Given the description of an element on the screen output the (x, y) to click on. 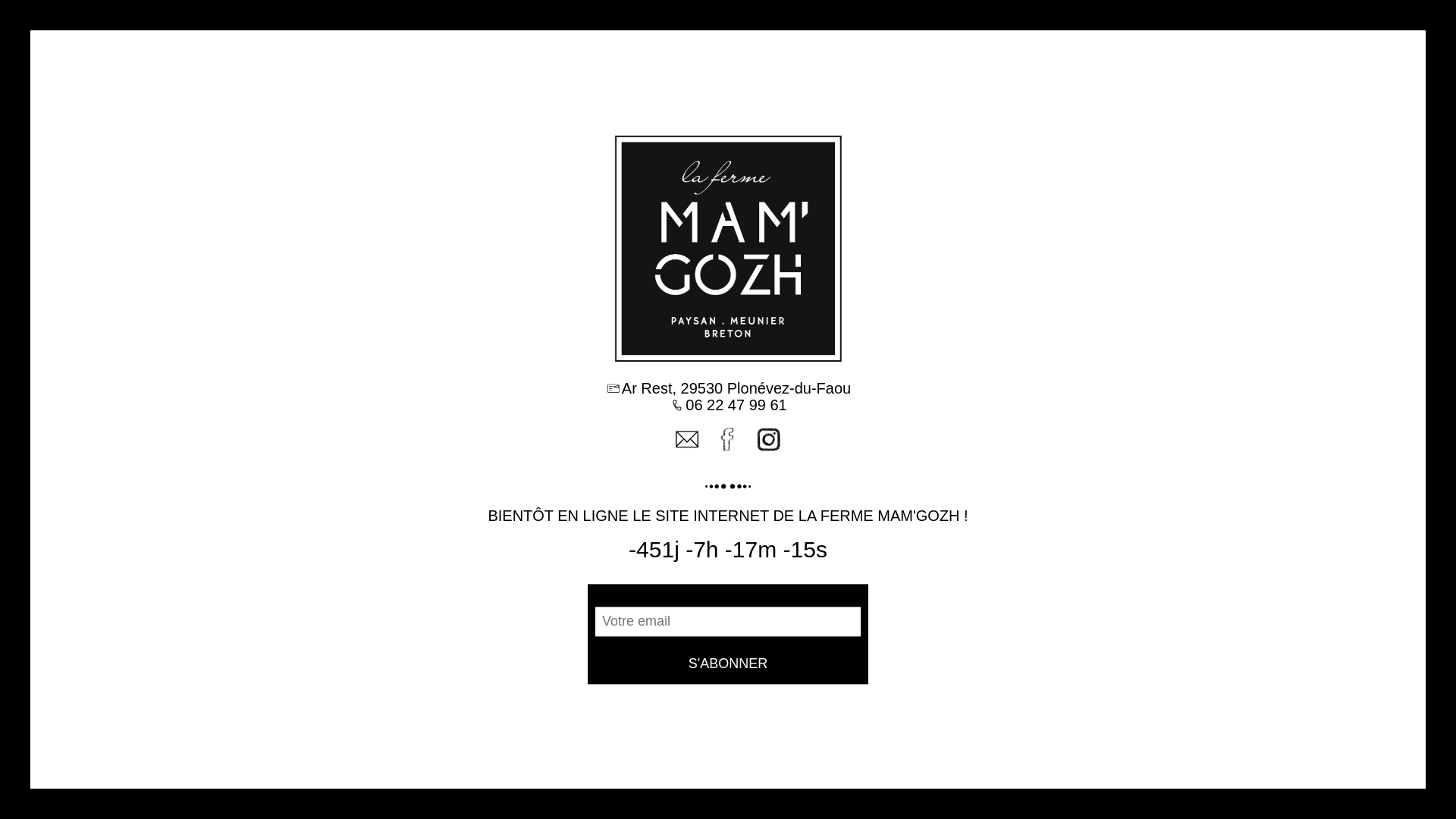
S'abonner Element type: text (727, 664)
